Given the description of an element on the screen output the (x, y) to click on. 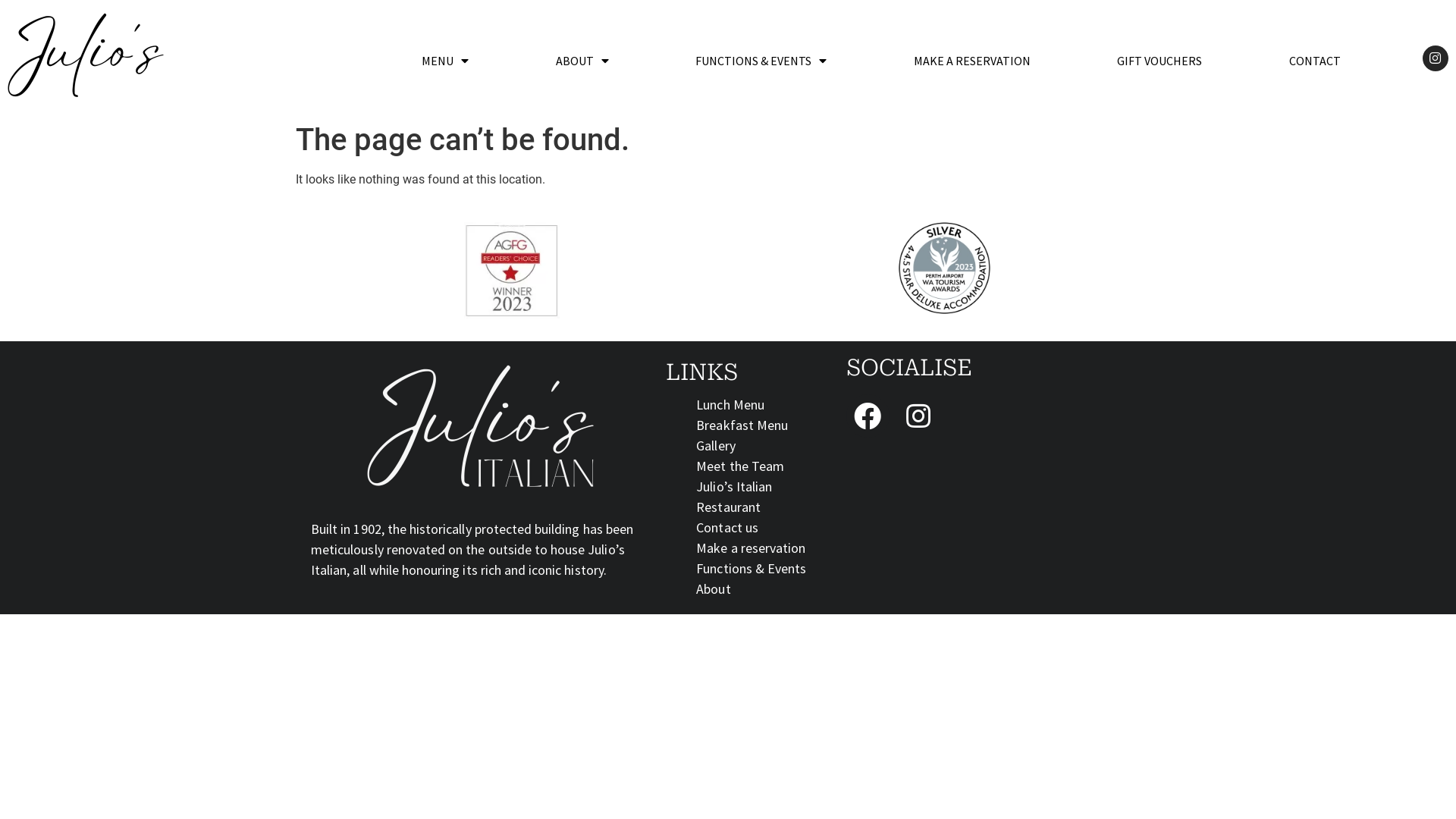
GIFT VOUCHERS Element type: text (1159, 60)
FUNCTIONS & EVENTS Element type: text (760, 60)
About Element type: text (713, 588)
Contact us Element type: text (727, 527)
MAKE A RESERVATION Element type: text (971, 60)
Gallery Element type: text (715, 445)
Breakfast Menu Element type: text (741, 424)
MENU Element type: text (445, 60)
Make a reservation Element type: text (750, 547)
CONTACT Element type: text (1314, 60)
ABOUT Element type: text (581, 60)
Meet the Team Element type: text (740, 465)
Functions & Events Element type: text (751, 568)
Lunch Menu Element type: text (730, 404)
